Given the description of an element on the screen output the (x, y) to click on. 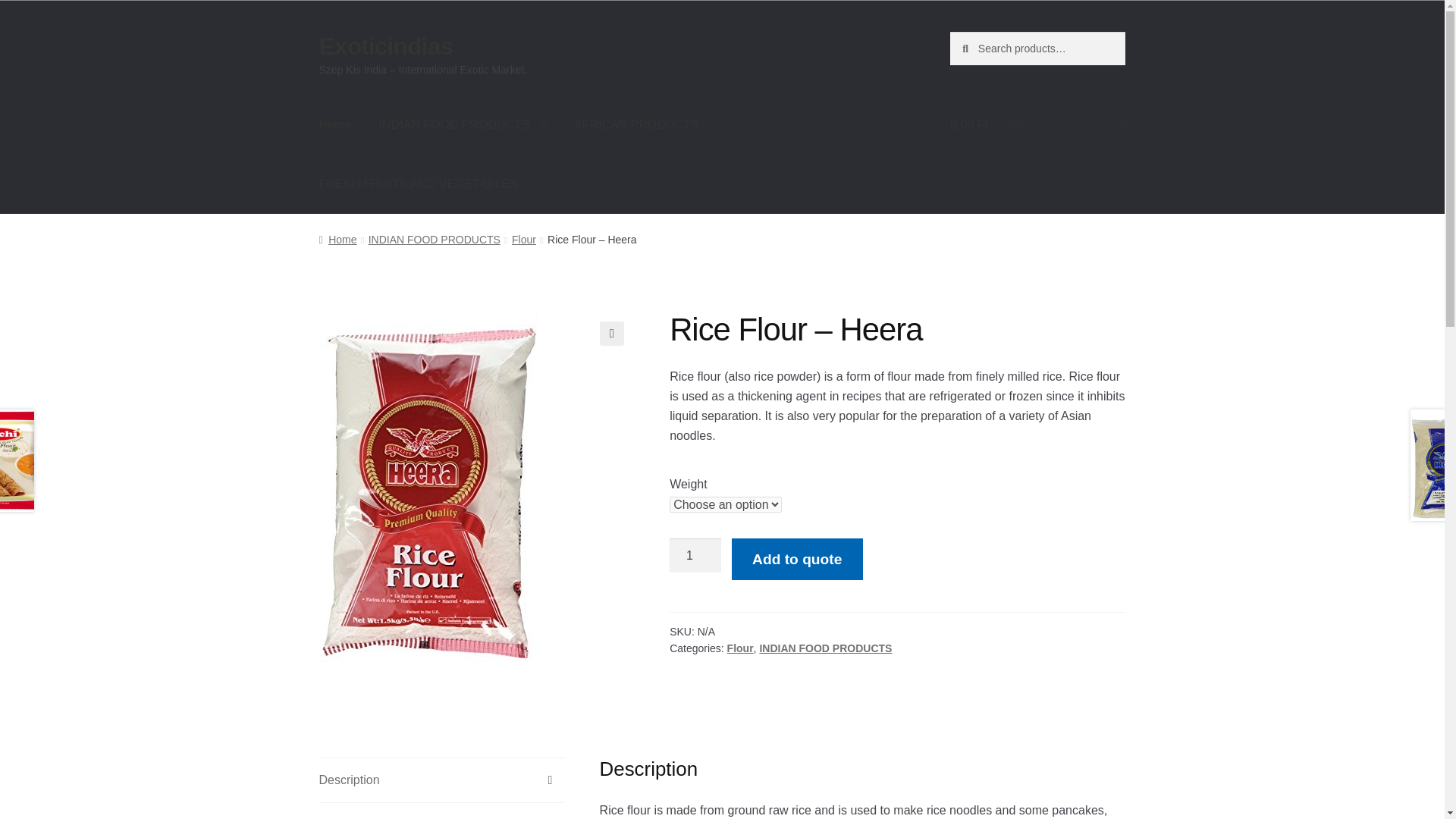
INDIAN FOOD PRODUCTS (462, 124)
Exoticindias (385, 45)
FRESH FRUITS AND VEGETABLES (419, 183)
Home (335, 124)
Qty (694, 555)
View your shopping cart (1037, 124)
AFRICAN PRODUCTS (636, 124)
1 (694, 555)
